Given the description of an element on the screen output the (x, y) to click on. 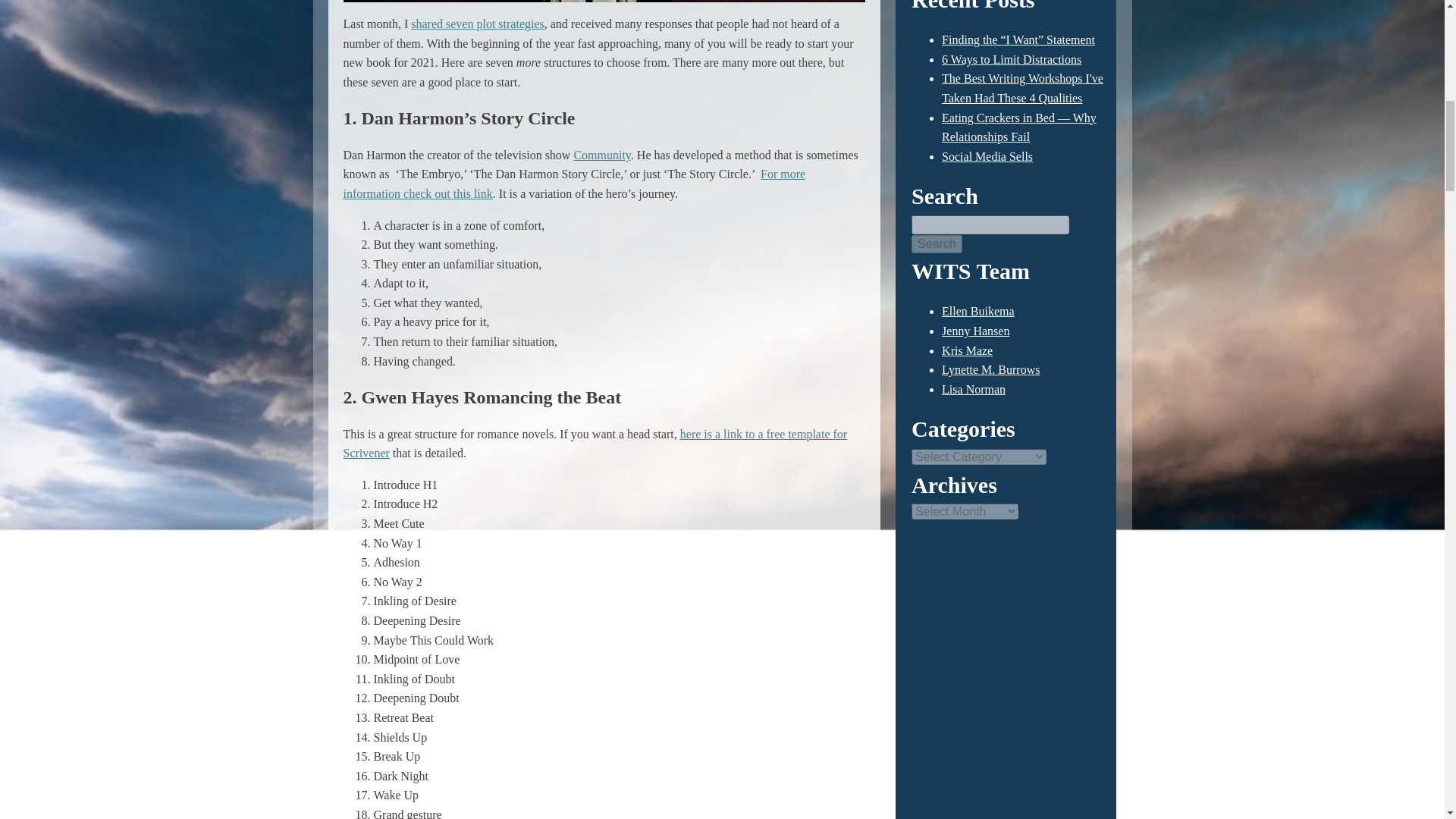
shared seven plot strategies (477, 23)
Community (601, 154)
Search (936, 244)
here is a link to a free template for Scrivener (594, 443)
7 Plot Structures for Pantsers (477, 23)
For more information check out this link (573, 183)
